Given the description of an element on the screen output the (x, y) to click on. 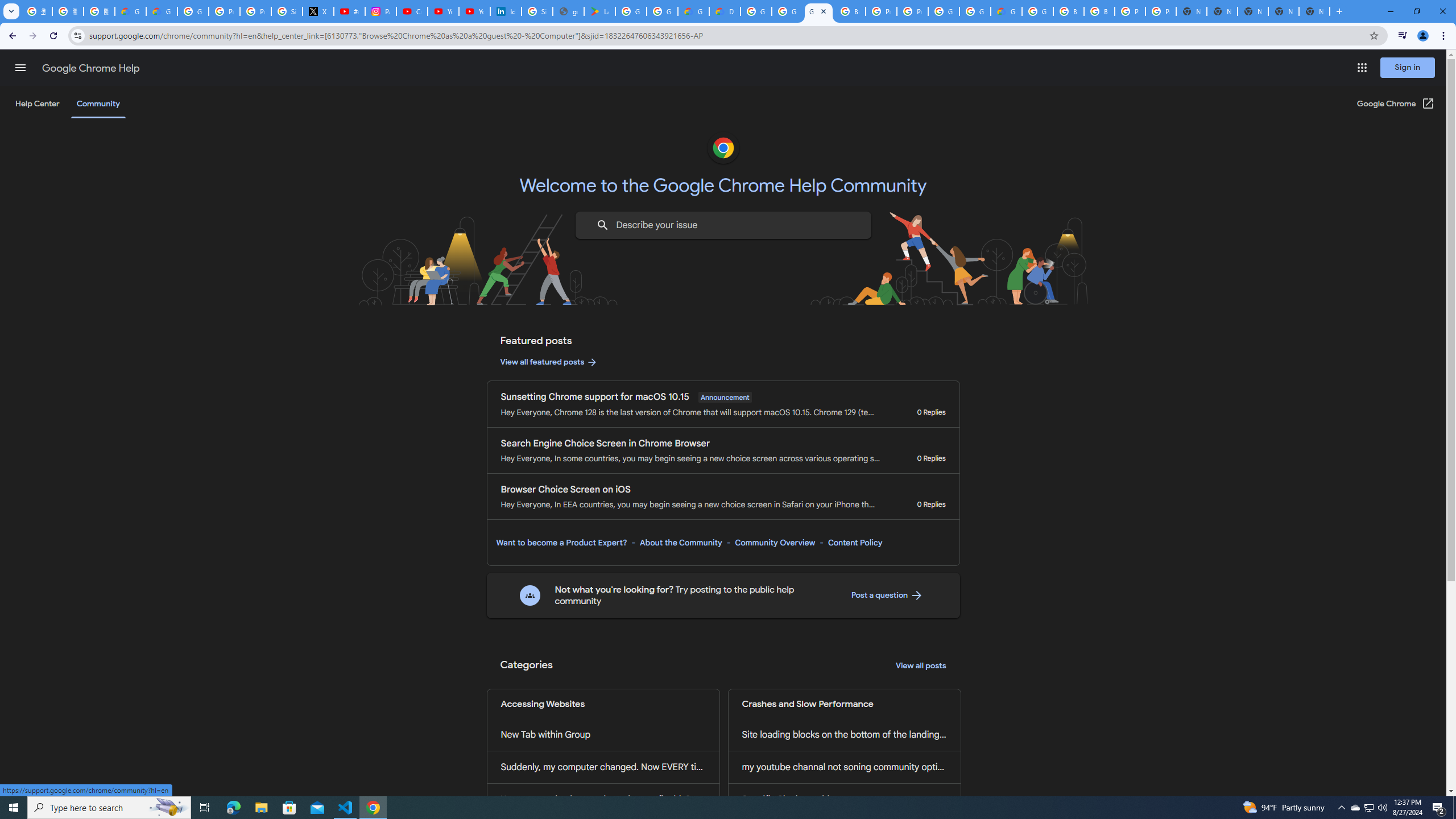
View all posts (920, 665)
Last Shelter: Survival - Apps on Google Play (599, 11)
You (1422, 35)
Google Chrome (Open in a new window) (1395, 103)
Google Cloud Estimate Summary (1005, 11)
